Given the description of an element on the screen output the (x, y) to click on. 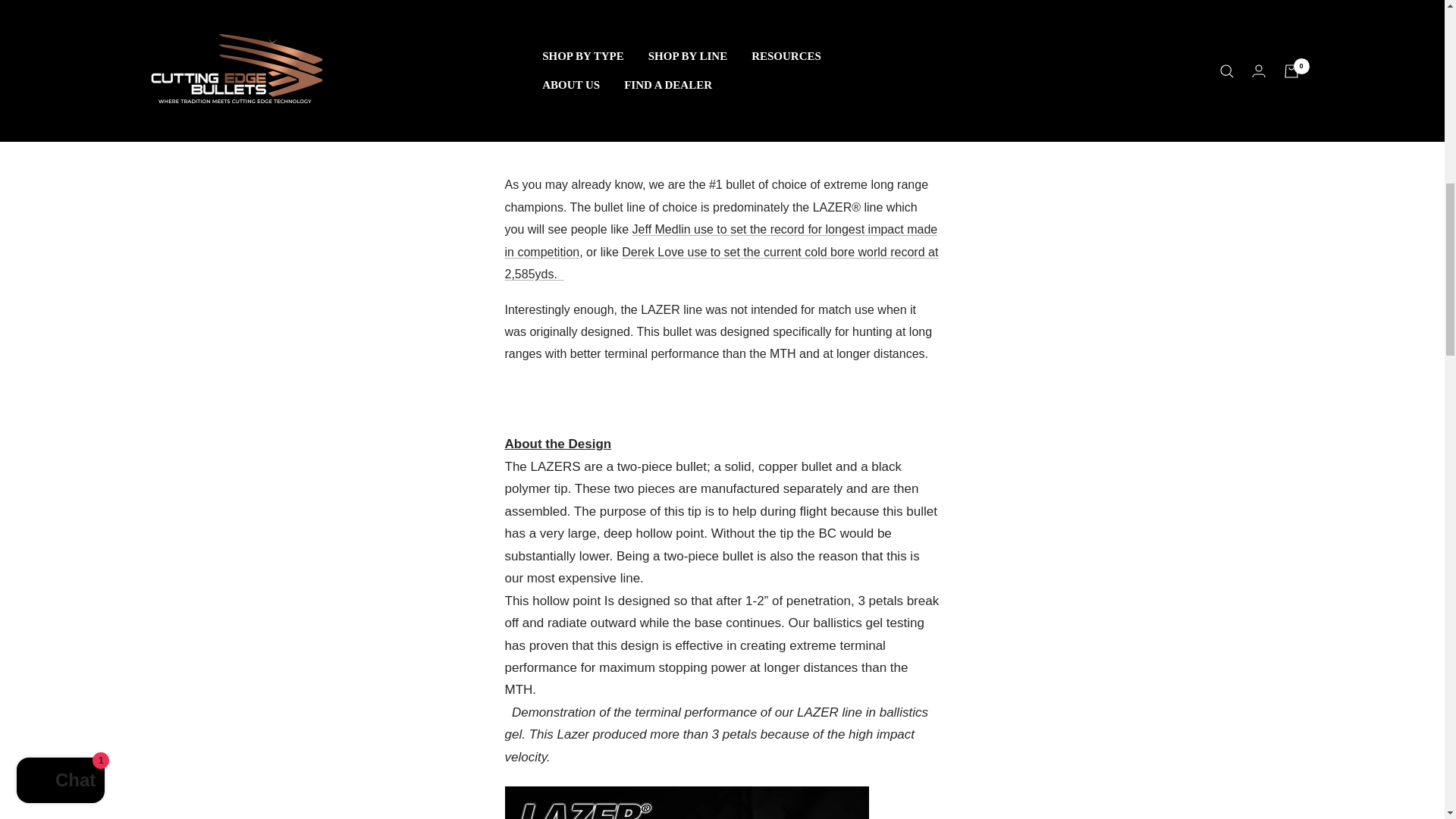
Match Shooting (249, 30)
Product Insight (247, 52)
